Given the description of an element on the screen output the (x, y) to click on. 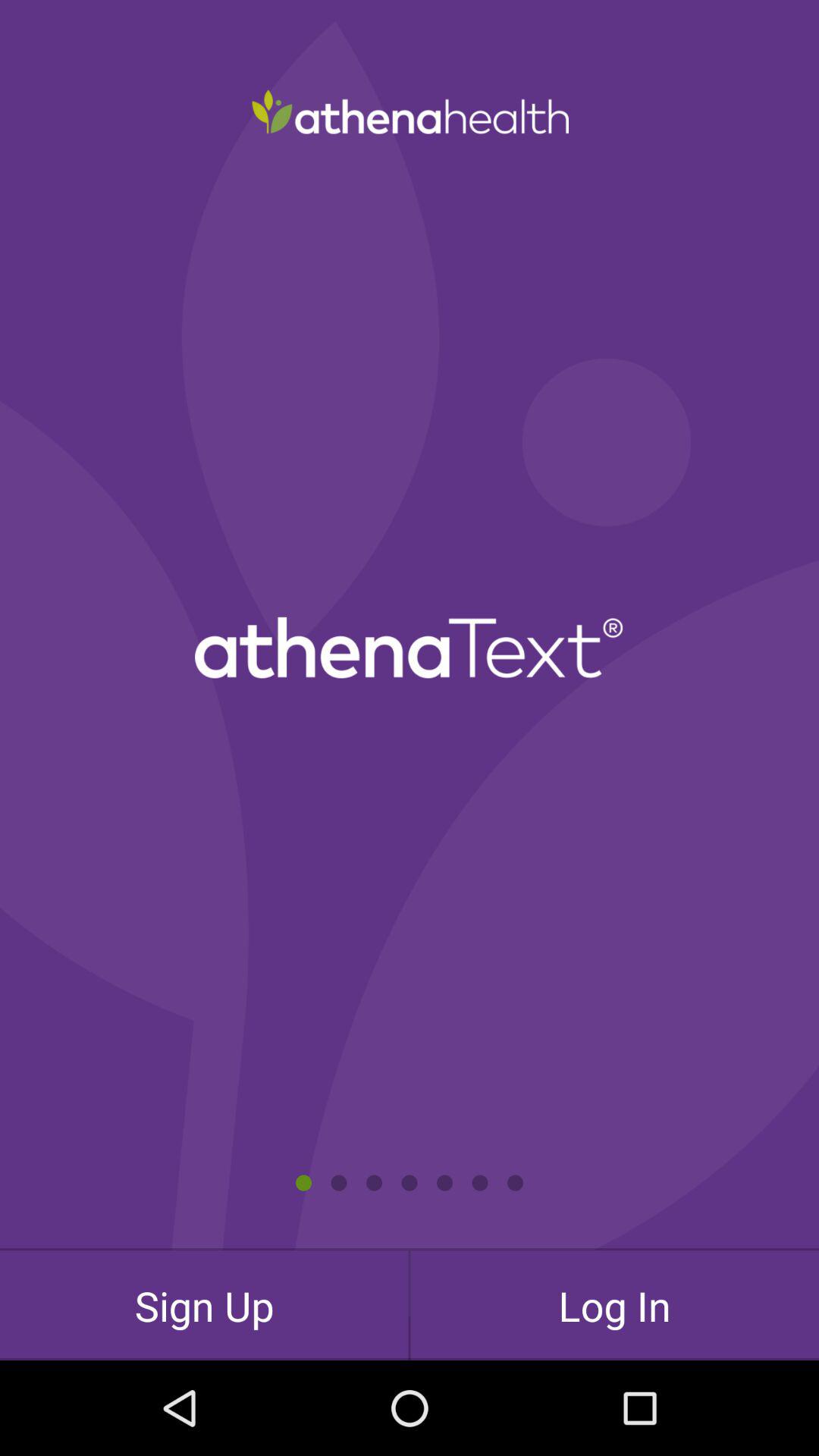
select sign up item (204, 1305)
